Given the description of an element on the screen output the (x, y) to click on. 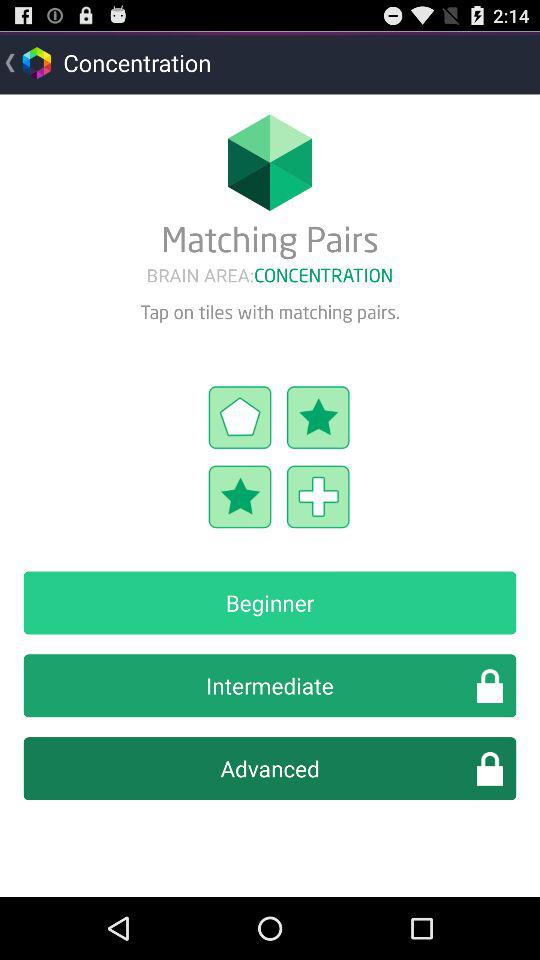
select icon above the advanced (269, 685)
